Given the description of an element on the screen output the (x, y) to click on. 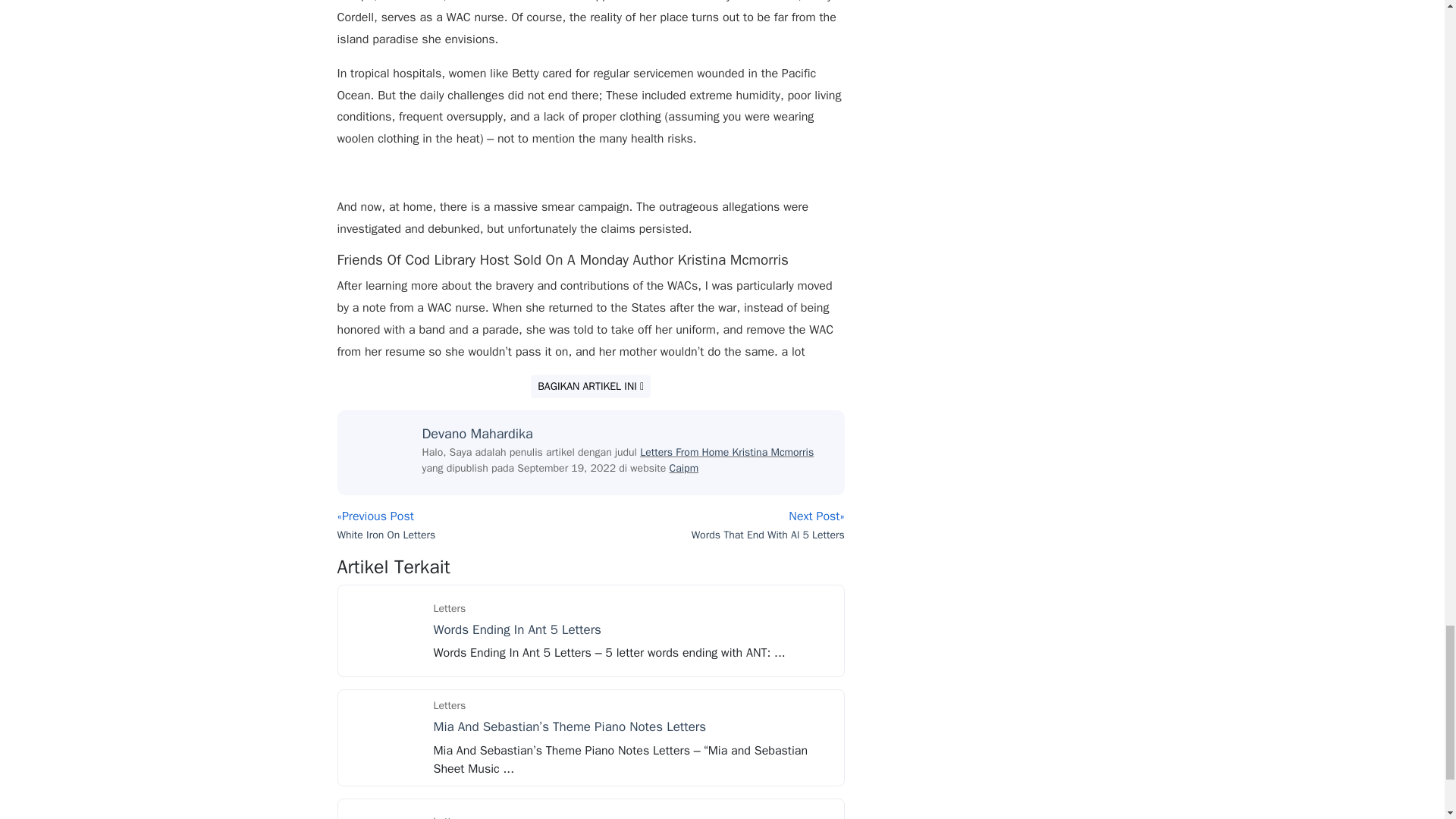
Letters (449, 608)
BAGIKAN ARTIKEL INI (590, 386)
Letters (449, 813)
Caipm (683, 468)
Devano Mahardika (477, 433)
Letters From Home Kristina Mcmorris (726, 451)
Caipm (683, 468)
Letters From Home Kristina Mcmorris (726, 451)
Letters (449, 705)
Words Ending In Ant 5 Letters (384, 630)
Words Ending In Ant 5 Letters (517, 629)
